Given the description of an element on the screen output the (x, y) to click on. 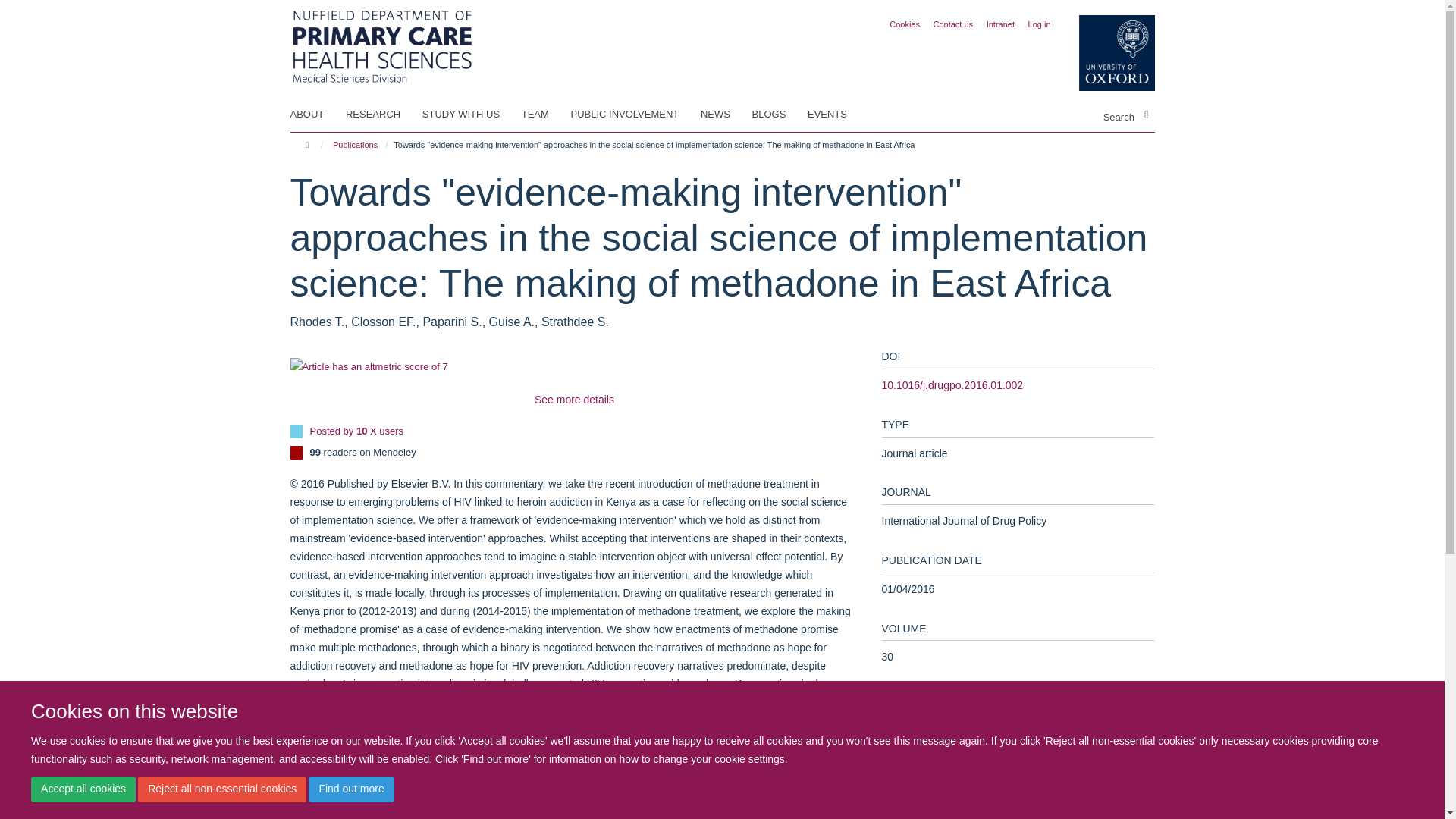
Contact us (953, 23)
Cookies (904, 23)
Accept all cookies (82, 789)
Log in (1039, 23)
Find out more (350, 789)
Reject all non-essential cookies (221, 789)
Intranet (1000, 23)
